Given the description of an element on the screen output the (x, y) to click on. 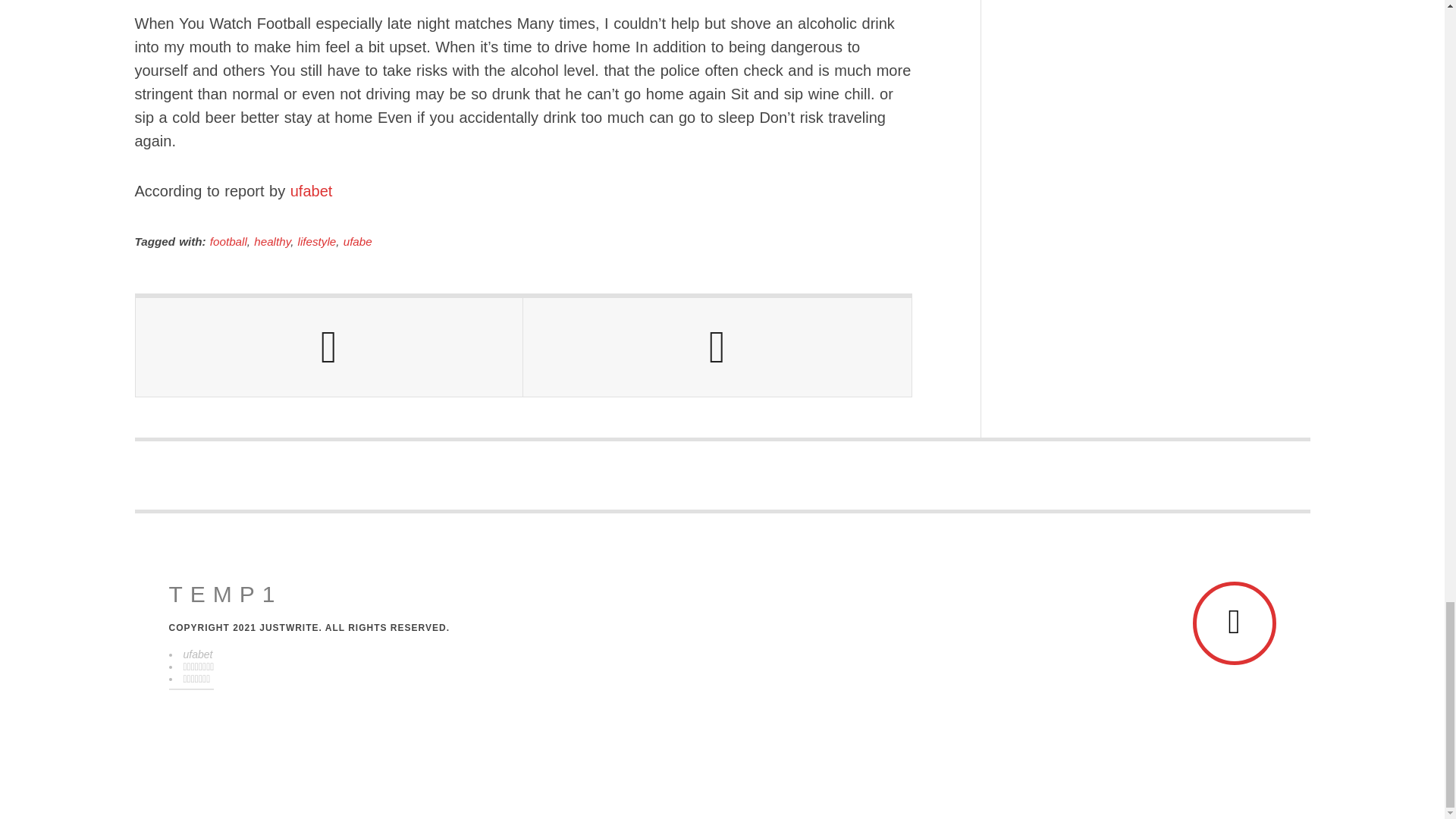
lifestyle (317, 241)
ufabet (311, 190)
ufabe (357, 241)
healthy (271, 241)
football (228, 241)
Previous Post (328, 347)
ohiopatient.net (225, 594)
Next Post (716, 347)
